Given the description of an element on the screen output the (x, y) to click on. 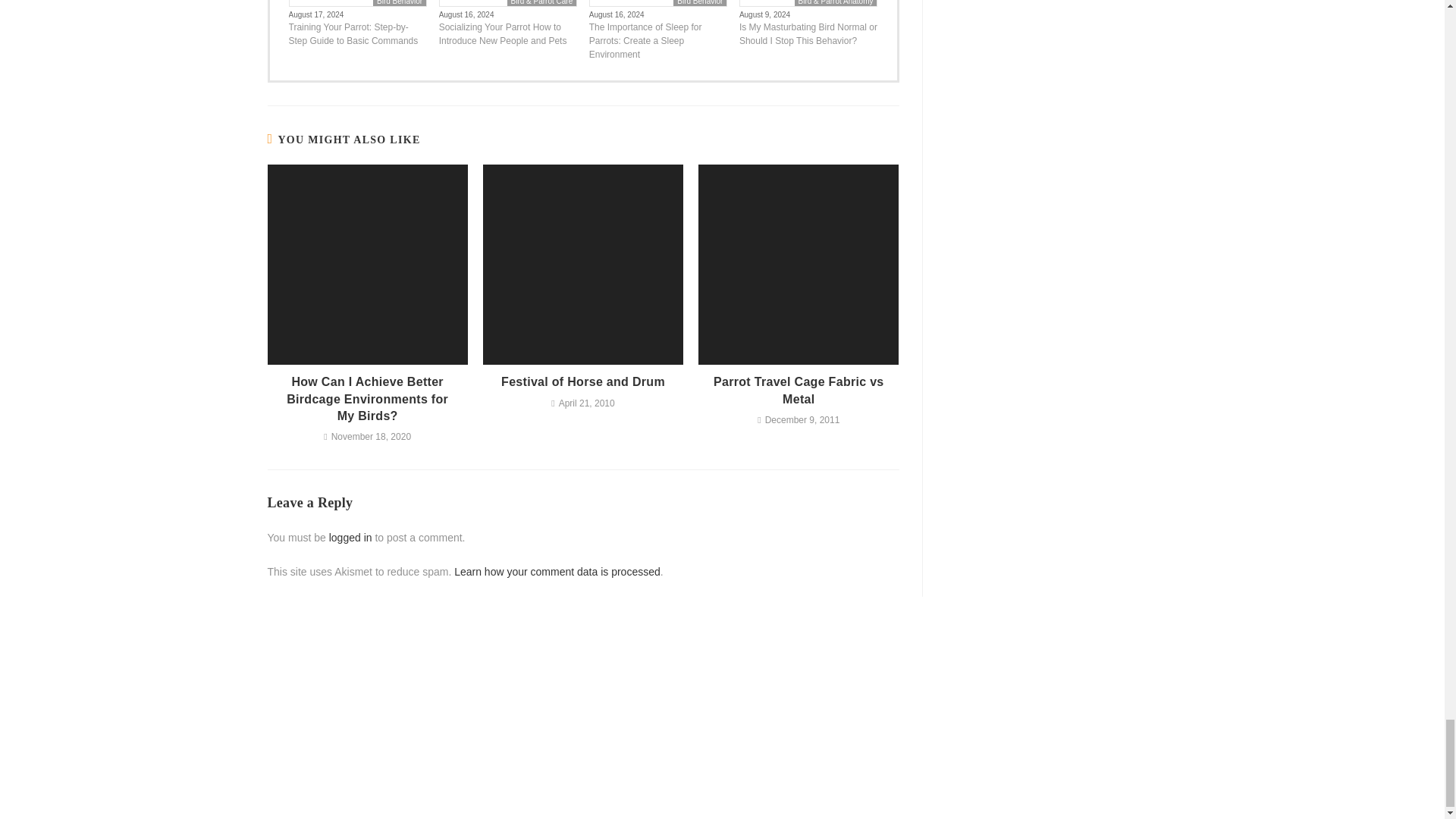
Bird Behavior (399, 2)
Socializing Your Parrot How to Introduce New People and Pets (508, 33)
How Can I Achieve Better Birdcage Environments for My Birds? (367, 399)
Festival of Horse and Drum (583, 381)
Training Your Parrot: Step-by-Step Guide to Basic Commands (357, 33)
Parrot Travel Cage Fabric vs Metal (798, 390)
